Given the description of an element on the screen output the (x, y) to click on. 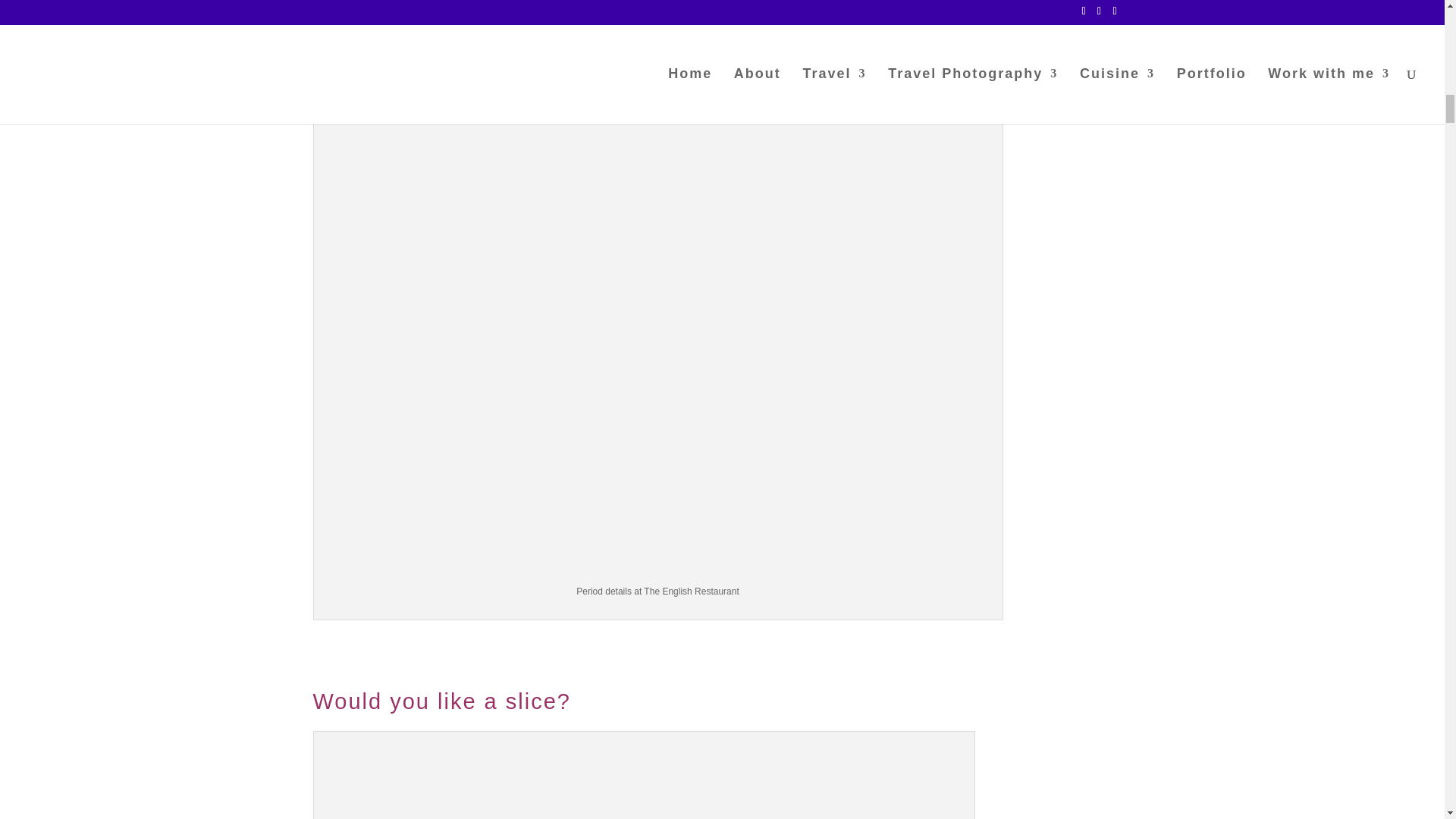
Eating London 5 (644, 778)
